Given the description of an element on the screen output the (x, y) to click on. 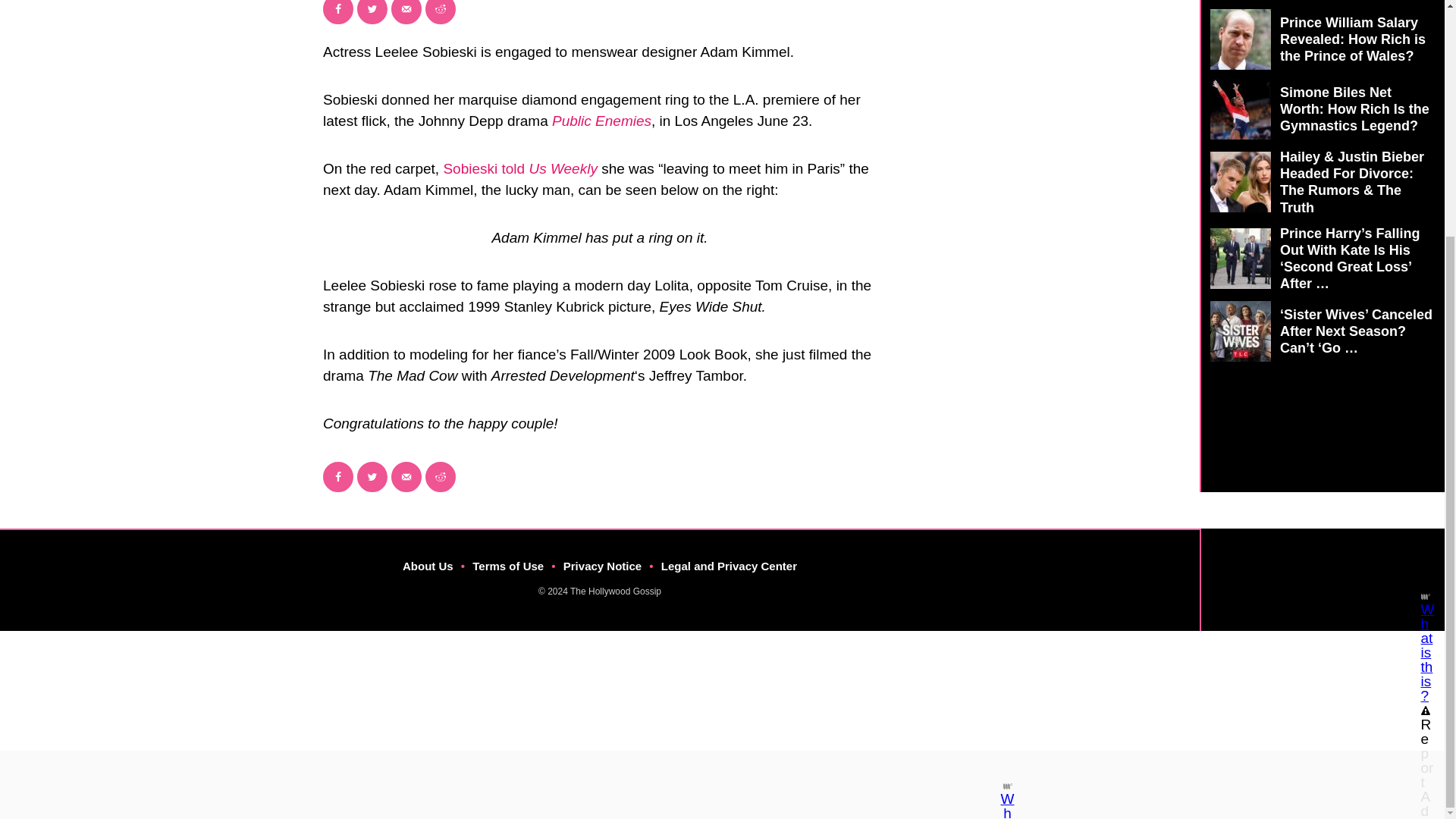
Share on Facebook (338, 476)
Share on Twitter (371, 476)
Share on Reddit (440, 12)
Public Enemies (600, 120)
Send over email (406, 476)
3rd party ad content (1321, 493)
Send over email (406, 12)
Share on Twitter (371, 12)
Share on Reddit (440, 476)
Simone Biles Net Worth: How Rich Is the Gymnastics Legend? (1322, 108)
Sobieski told Us Weekly (519, 168)
Share on Facebook (338, 12)
3rd party ad content (708, 462)
